Given the description of an element on the screen output the (x, y) to click on. 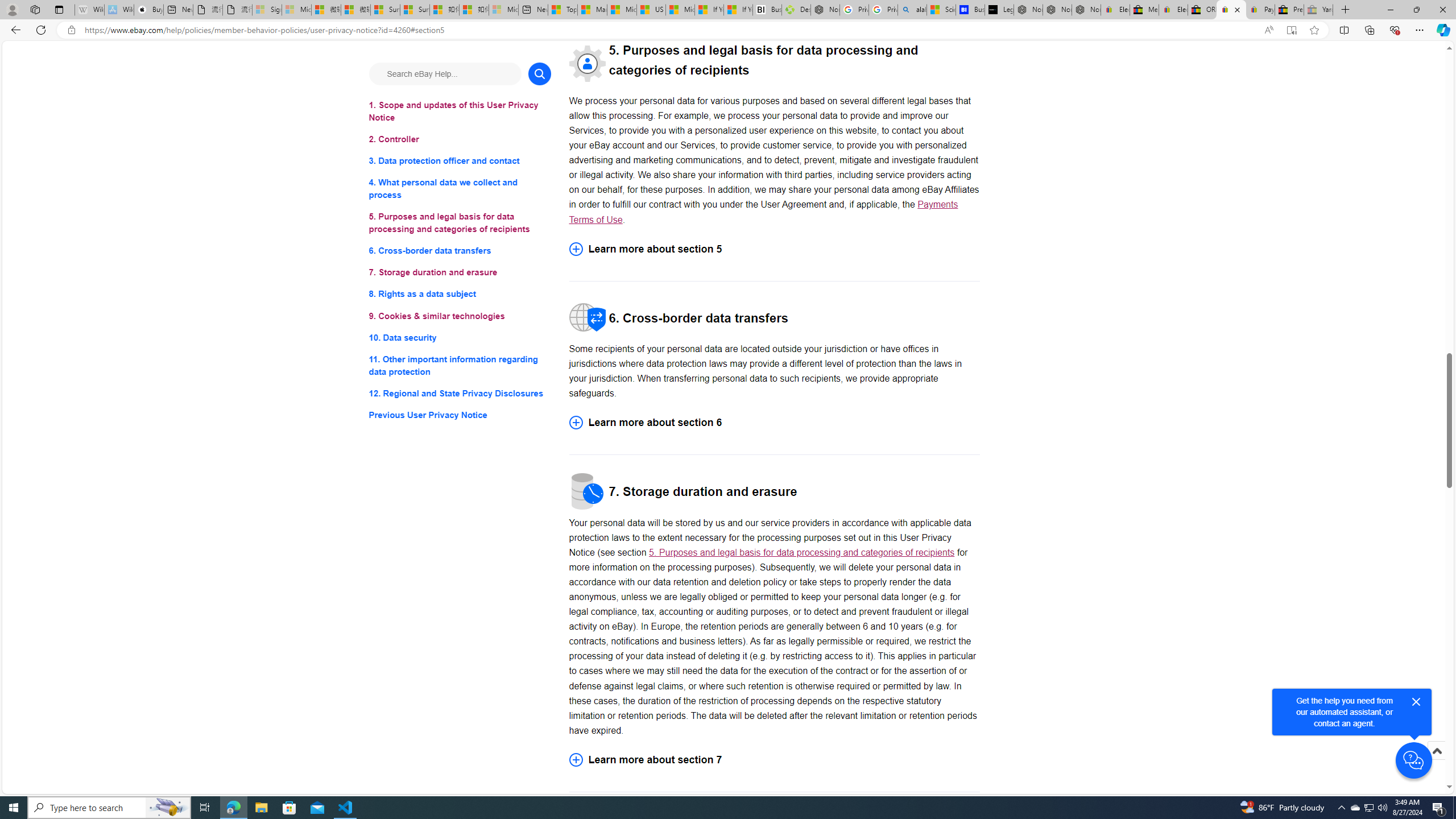
8. Rights as a data subject (459, 293)
7. Storage duration and erasure (459, 272)
Learn more about section 5 (774, 248)
1. Scope and updates of this User Privacy Notice (459, 111)
Search eBay Help... (444, 73)
